Given the description of an element on the screen output the (x, y) to click on. 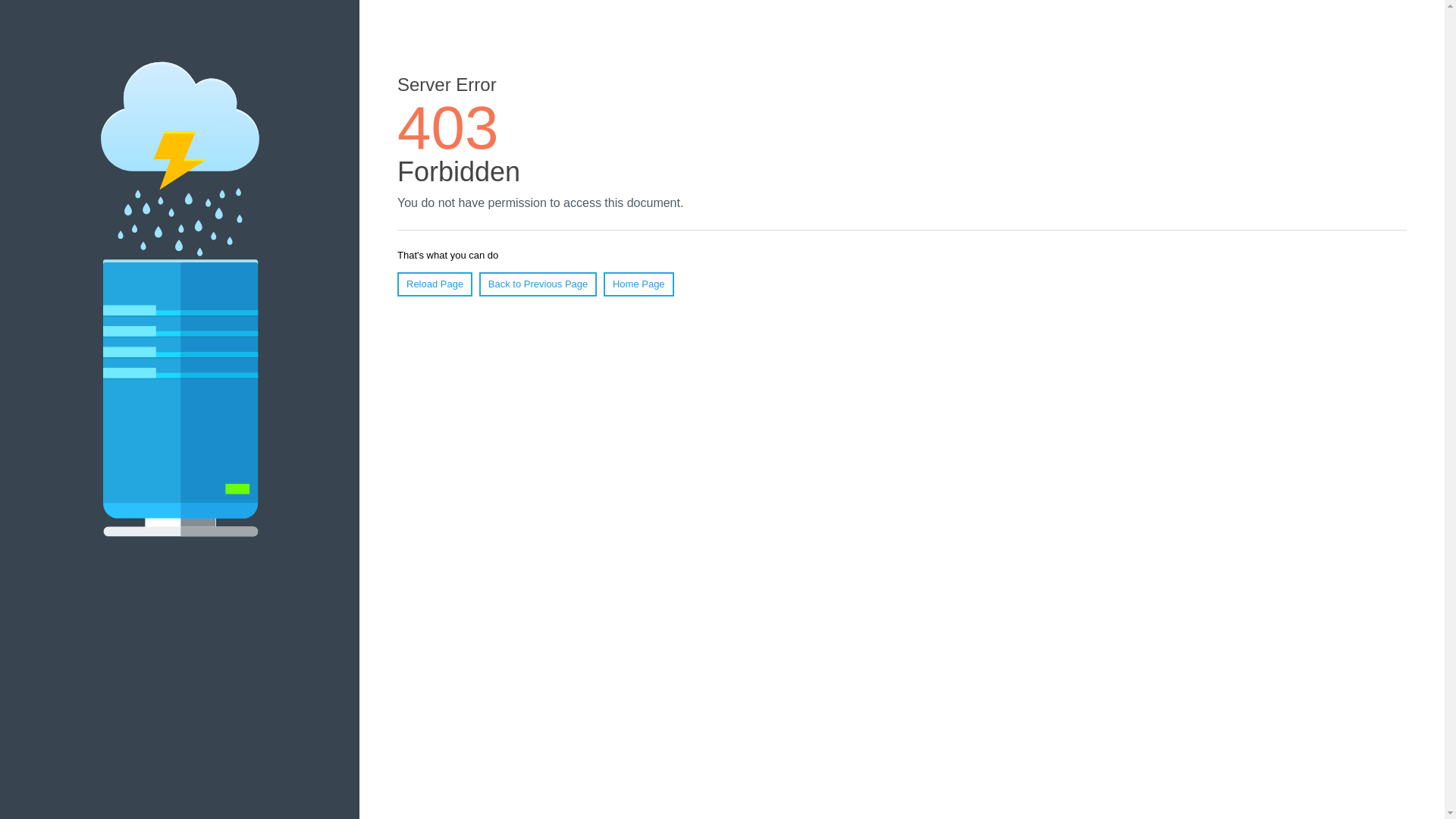
Reload Page Element type: text (434, 284)
Home Page Element type: text (638, 284)
Back to Previous Page Element type: text (538, 284)
